Given the description of an element on the screen output the (x, y) to click on. 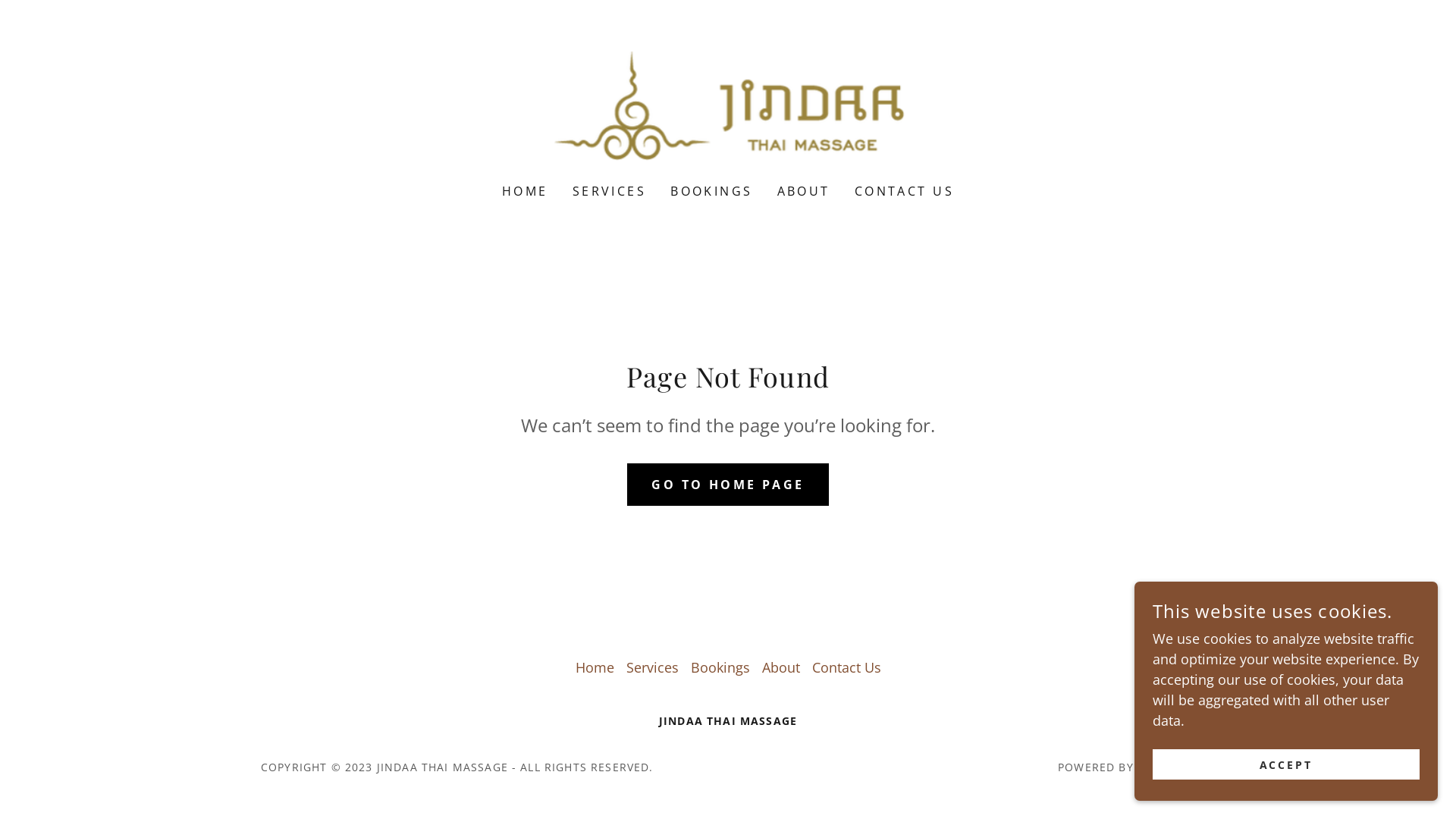
GODADDY Element type: text (1166, 766)
About Element type: text (780, 667)
Jindaa Thai Massage Element type: hover (728, 101)
Home Element type: text (593, 667)
Services Element type: text (652, 667)
GO TO HOME PAGE Element type: text (727, 483)
SERVICES Element type: text (608, 190)
HOME Element type: text (524, 190)
Bookings Element type: text (719, 667)
ACCEPT Element type: text (1285, 764)
Contact Us Element type: text (845, 667)
ABOUT Element type: text (803, 190)
BOOKINGS Element type: text (710, 190)
CONTACT US Element type: text (904, 190)
